Given the description of an element on the screen output the (x, y) to click on. 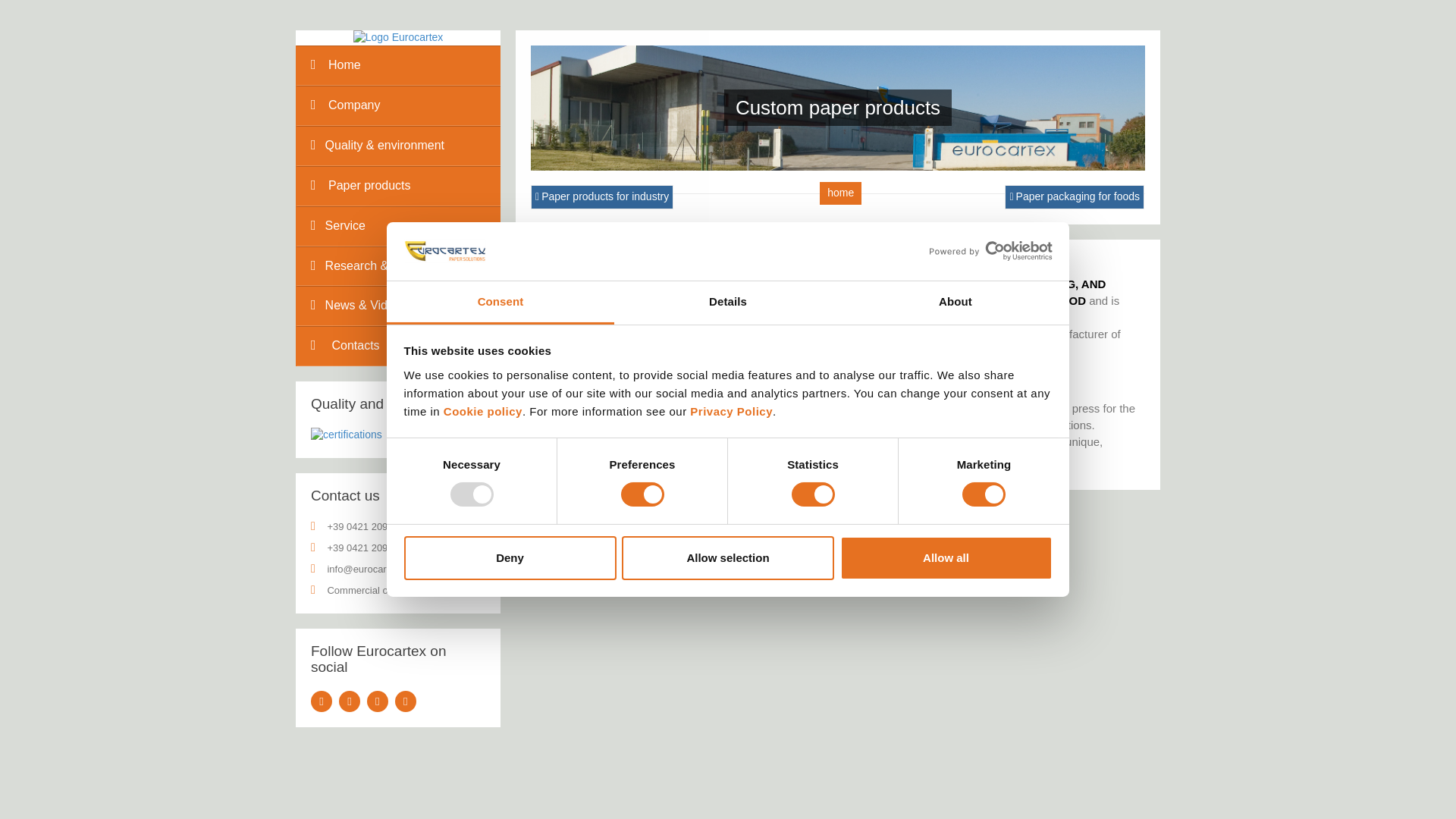
news (397, 305)
facebook eurocartex (321, 701)
Home (397, 65)
research and innovation (397, 265)
Eurocartex: manufacturer of soft paper packaging (398, 37)
Consent (500, 302)
certifications (346, 435)
info (397, 345)
Homepage Eurocartex (398, 37)
Deny (509, 557)
Commercial office (366, 590)
 Company (397, 105)
Privacy Policy (731, 410)
Service (397, 226)
Allow selection (727, 557)
